Given the description of an element on the screen output the (x, y) to click on. 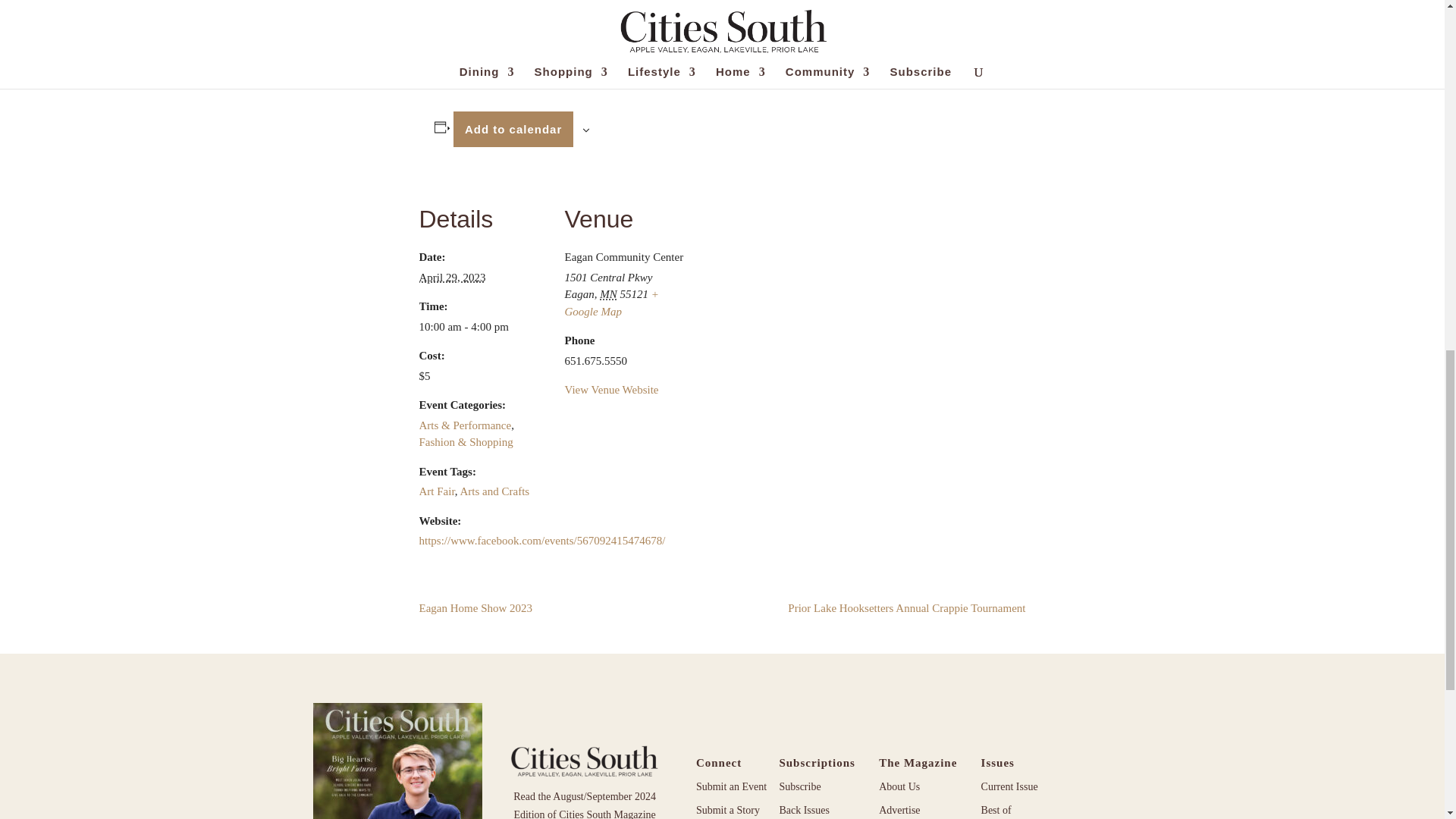
2023-04-29 (482, 326)
2023-04-29 (451, 277)
Click to view a Google Map (611, 302)
Minnesota (608, 294)
